Given the description of an element on the screen output the (x, y) to click on. 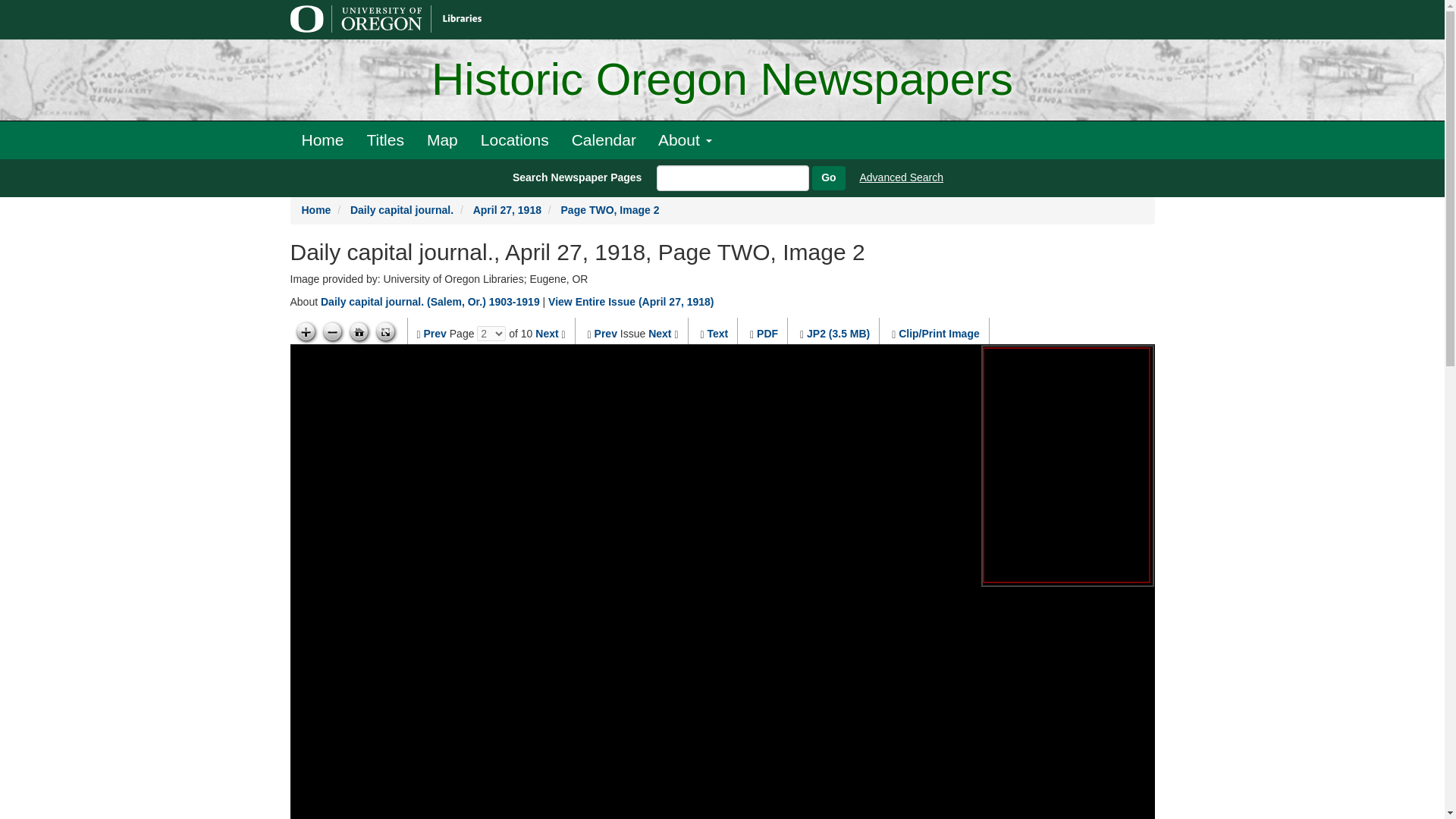
Next (659, 333)
Daily capital journal. (401, 209)
Prev (434, 333)
Text (717, 333)
Locations (514, 139)
About (684, 140)
Toggle full page (385, 332)
Map (441, 139)
Go (828, 178)
April 27, 1918 (507, 209)
Zoom in (305, 332)
Home (316, 209)
Home (322, 139)
Advanced Search (901, 177)
Historic Oregon Newspapers (721, 79)
